Given the description of an element on the screen output the (x, y) to click on. 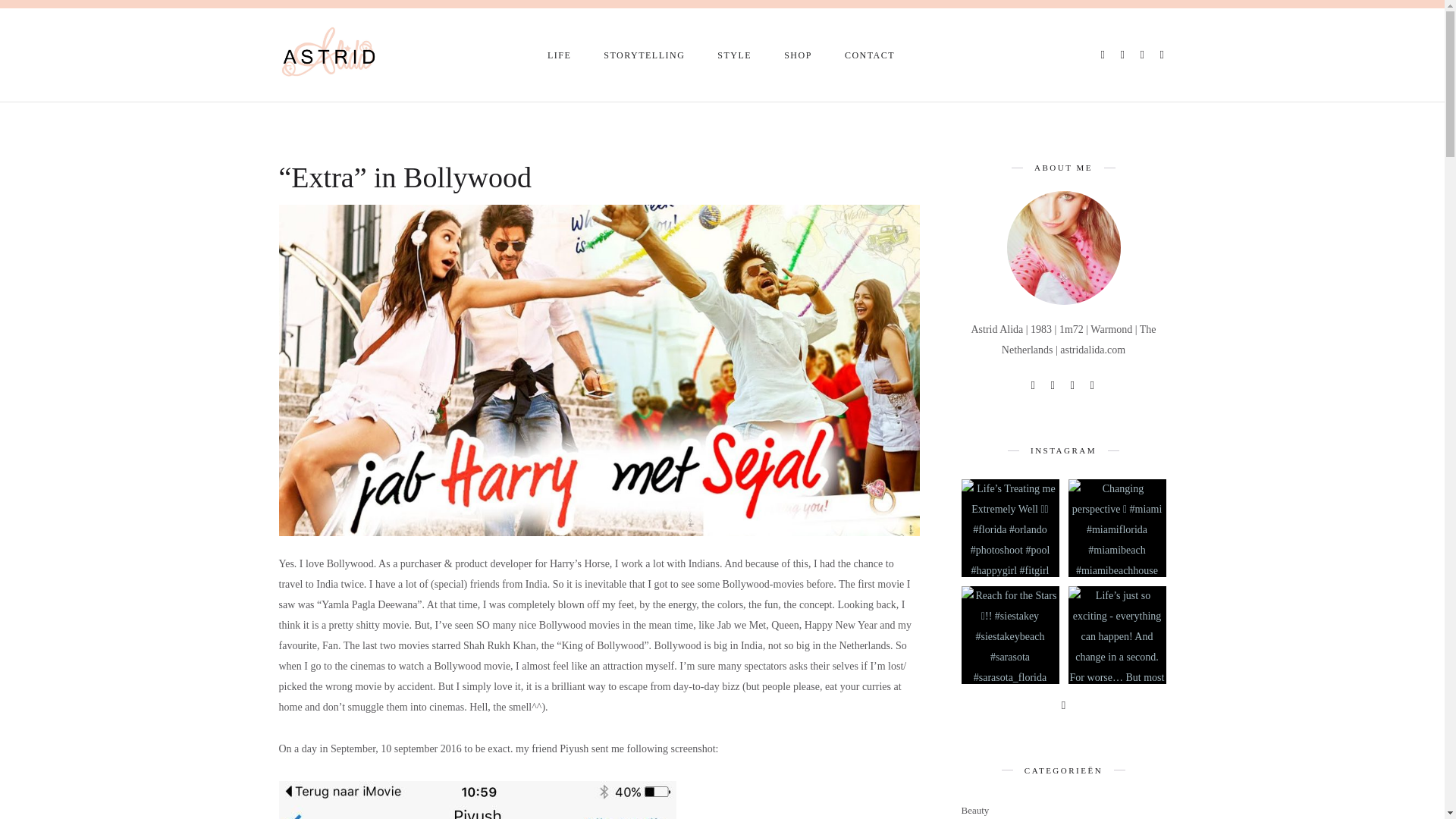
STORYTELLING (644, 55)
SHOP (798, 55)
LIFE (560, 55)
CONTACT (870, 55)
STYLE (734, 55)
